Given the description of an element on the screen output the (x, y) to click on. 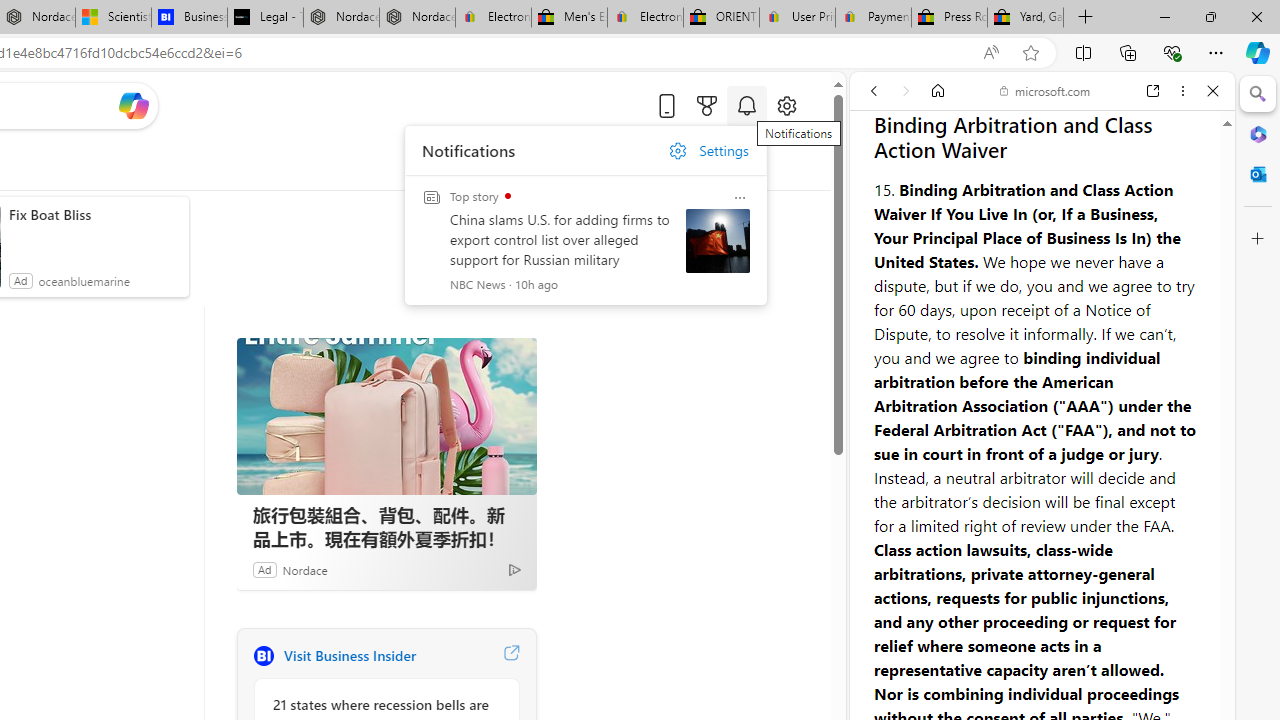
Split screen (1083, 52)
microsoft.com (1045, 90)
Card Action (739, 197)
Forward (906, 91)
Web scope (882, 180)
Business Insider (263, 655)
Close (1213, 91)
Electronics, Cars, Fashion, Collectibles & More | eBay (645, 17)
More options (1182, 91)
Copilot (Ctrl+Shift+.) (1258, 52)
Read aloud this page (Ctrl+Shift+U) (991, 53)
Restore (1210, 16)
